Given the description of an element on the screen output the (x, y) to click on. 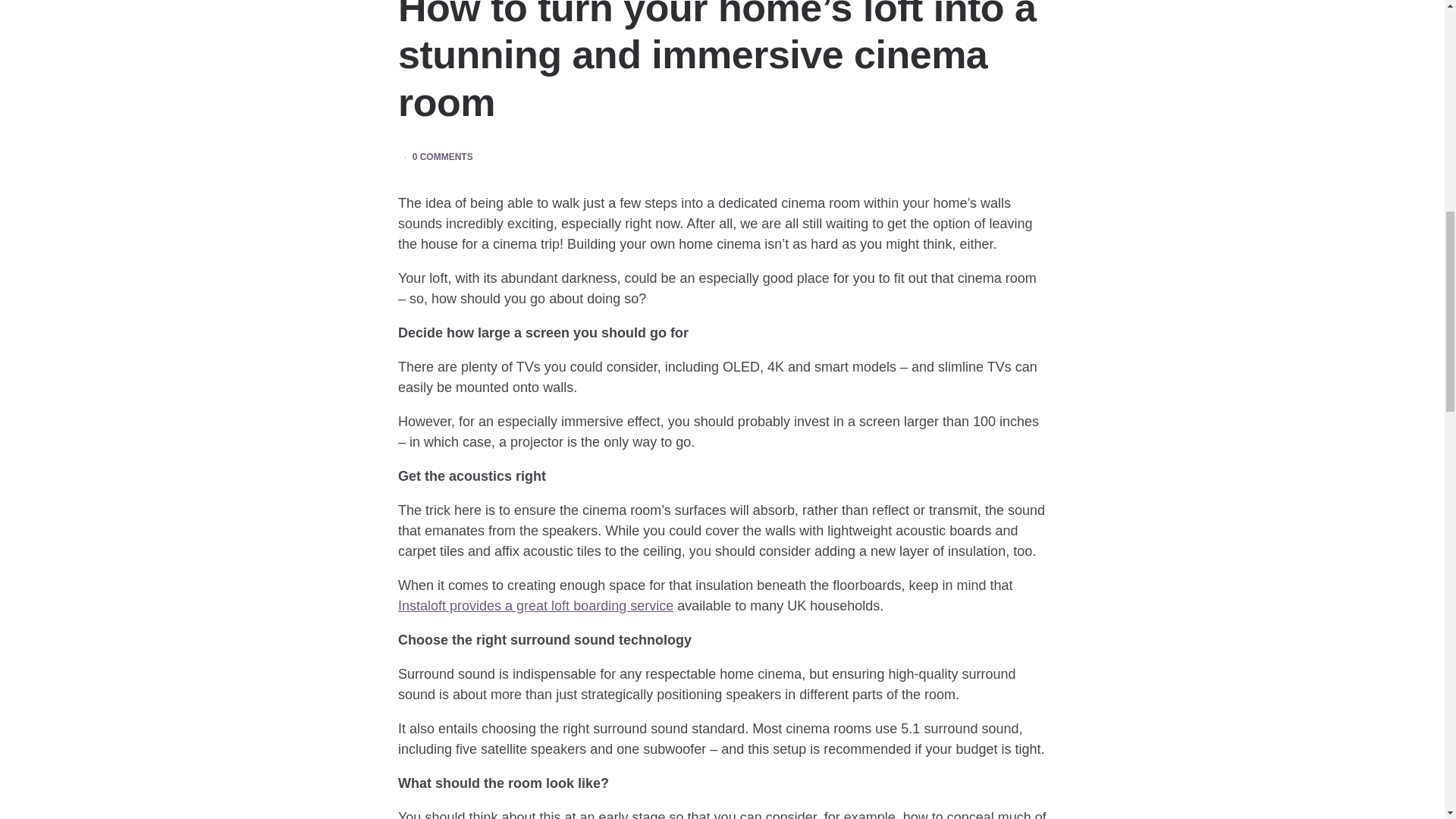
0 COMMENTS (442, 157)
Instaloft provides a great loft boarding service (534, 605)
